Given the description of an element on the screen output the (x, y) to click on. 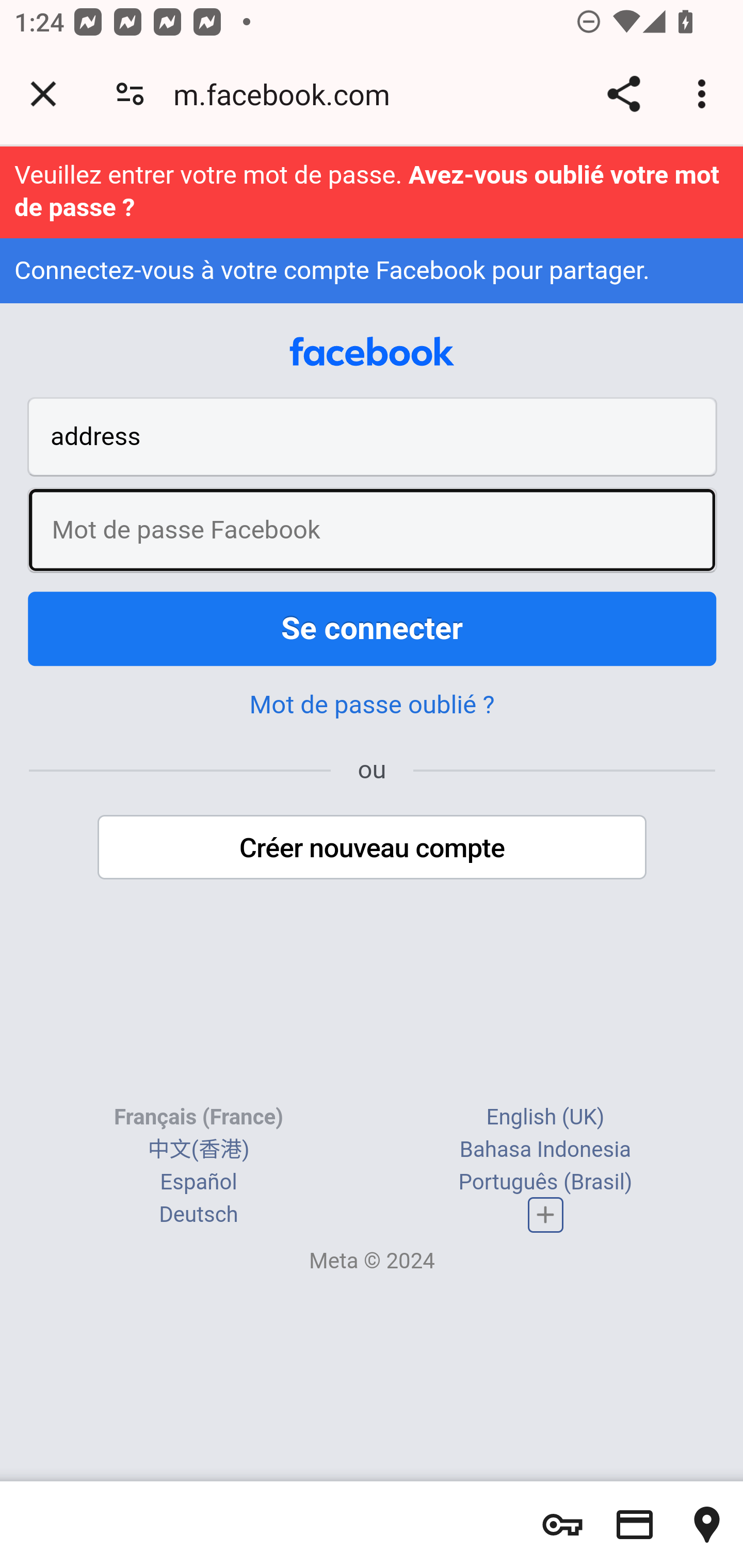
Close tab (43, 93)
Share (623, 93)
Customize and control Google Chrome (705, 93)
Connection is secure (129, 93)
m.facebook.com (288, 93)
Avez-vous oublié votre mot de passe ? (366, 191)
facebook (372, 351)
address (372, 436)
Se connecter (372, 629)
Mot de passe oublié ? (371, 704)
Créer nouveau compte (372, 847)
English (UK) (544, 1116)
中文(香港) (198, 1148)
Bahasa Indonesia (545, 1148)
Español (198, 1181)
Português (Brasil) (544, 1181)
Liste complète des langues (545, 1213)
Deutsch (198, 1213)
Show saved passwords and password options (562, 1524)
Show saved payment methods (634, 1524)
Show saved addresses (706, 1524)
